Given the description of an element on the screen output the (x, y) to click on. 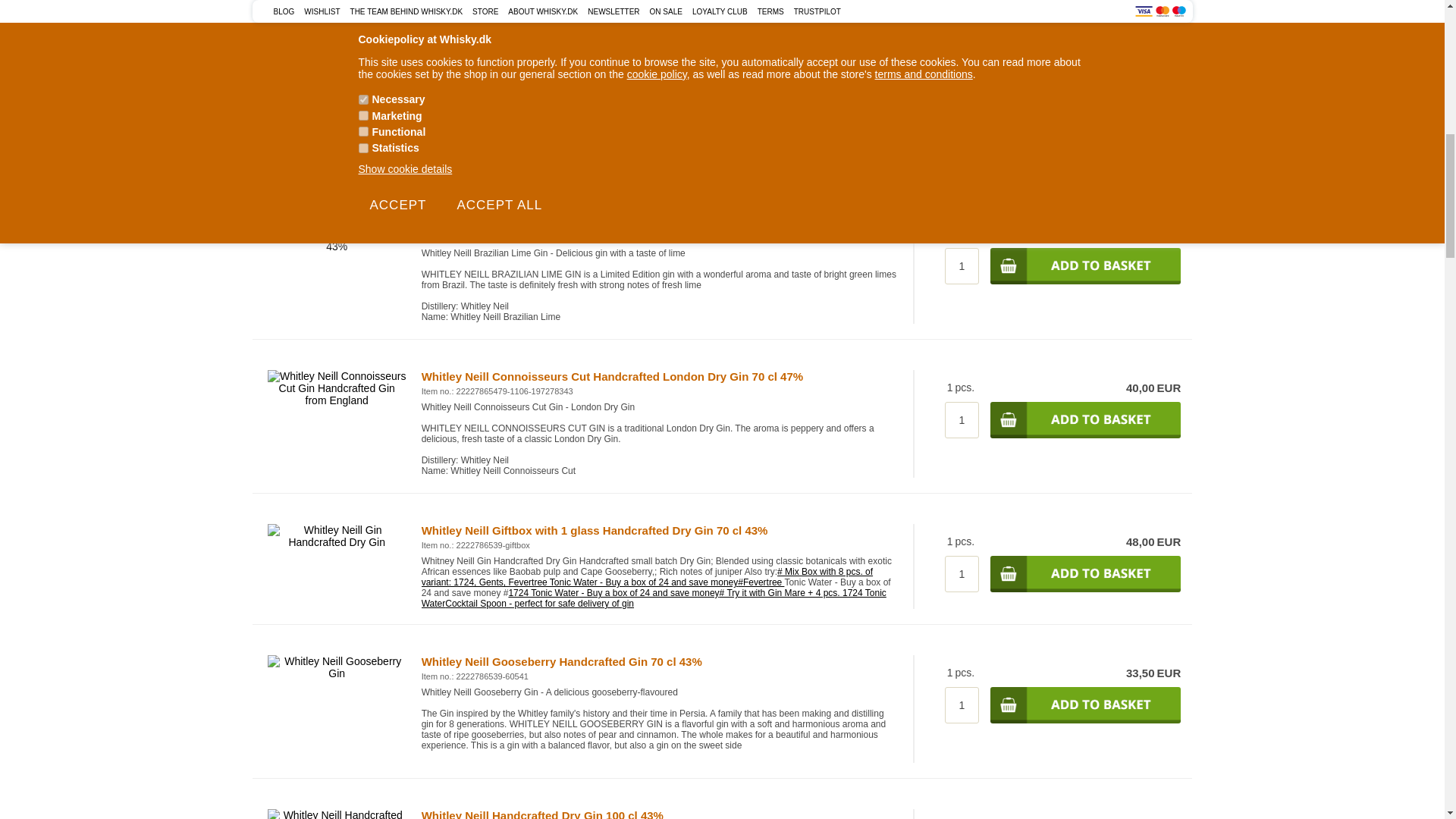
1 (961, 266)
1 (961, 420)
1 (961, 84)
